Given the description of an element on the screen output the (x, y) to click on. 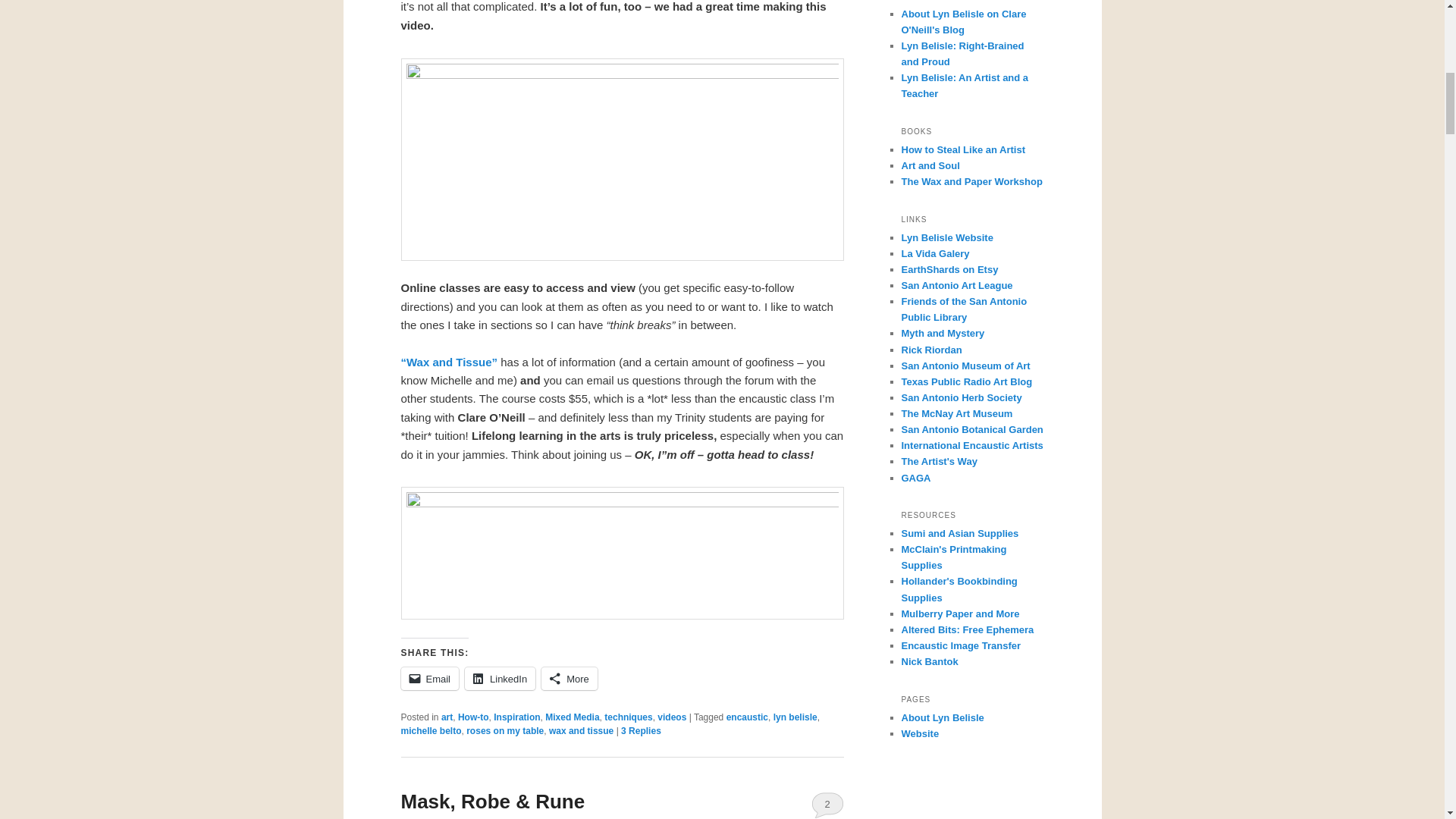
roses on my table (504, 730)
Mixed Media (571, 716)
More (568, 678)
Email (429, 678)
techniques (628, 716)
videos (671, 716)
art (446, 716)
Click to email a link to a friend (429, 678)
Click to share on LinkedIn (499, 678)
encaustic (747, 716)
